Given the description of an element on the screen output the (x, y) to click on. 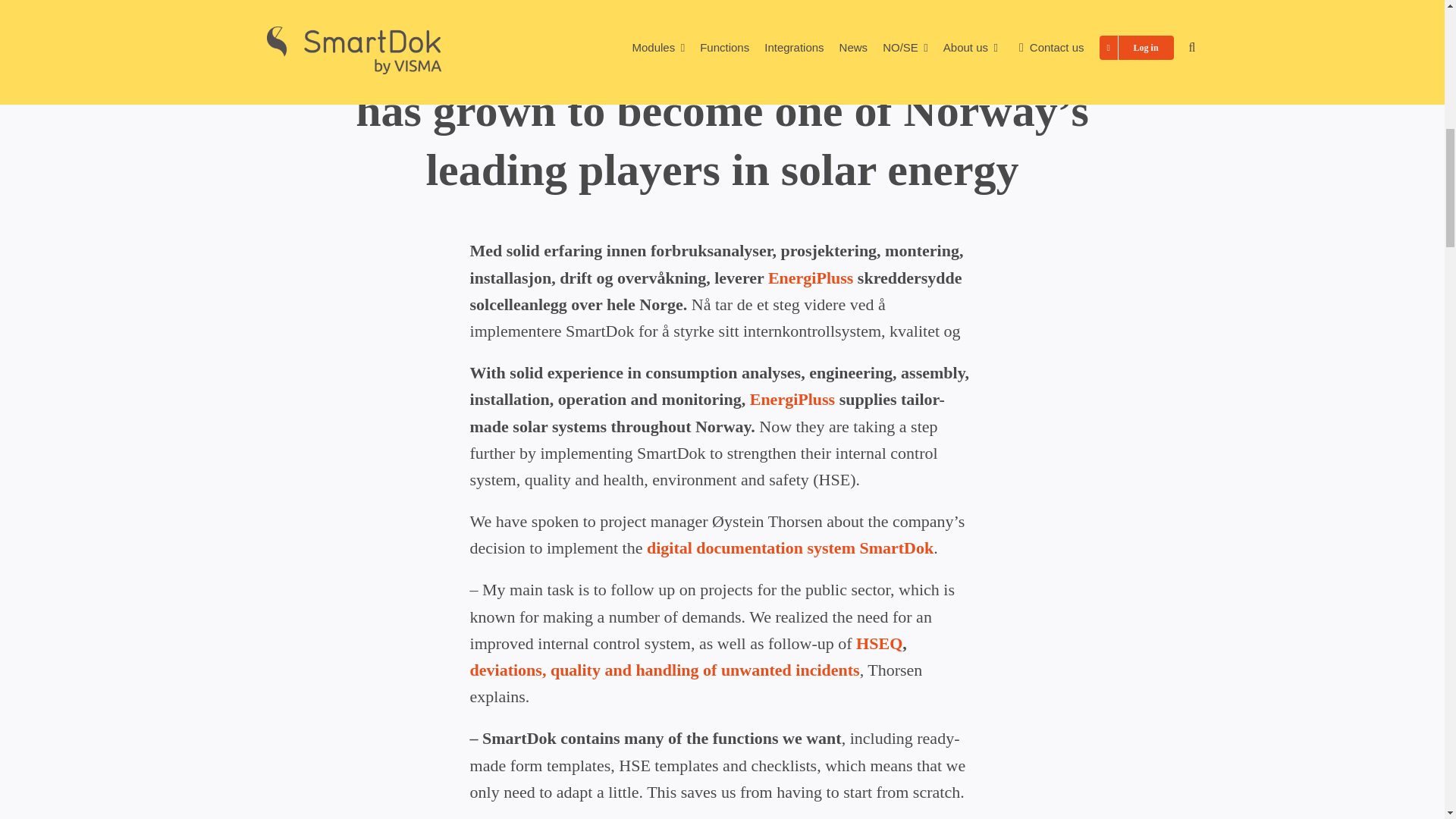
EnergiPluss (791, 398)
digital documentation system SmartDok (789, 547)
HSEQ (879, 642)
EnergiPluss (810, 277)
deviations, quality and handling of unwanted incidents (665, 669)
